Given the description of an element on the screen output the (x, y) to click on. 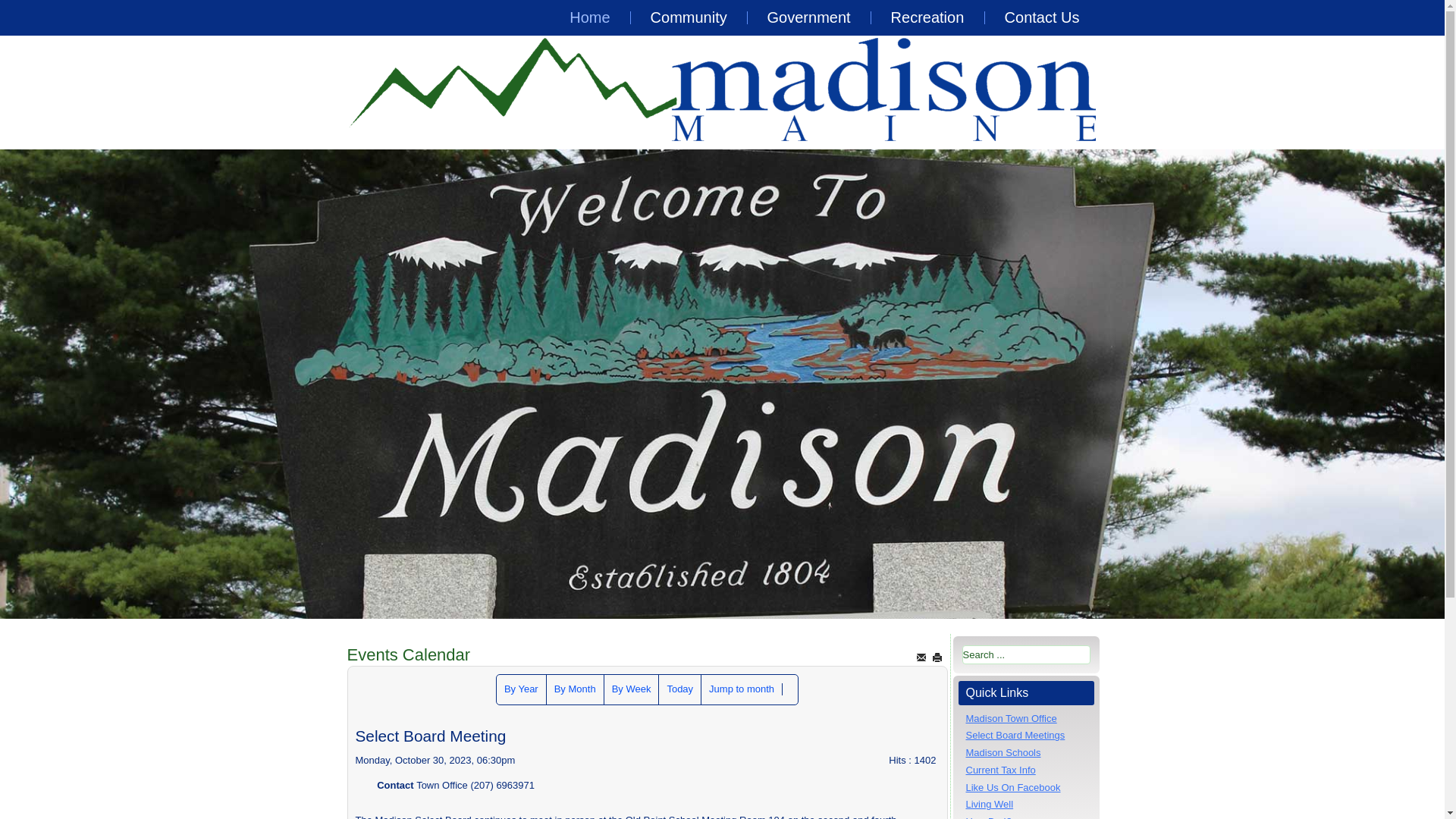
Today (679, 689)
Print (936, 656)
Today (679, 689)
By Year (521, 689)
Recreation (928, 17)
EMAIL (920, 656)
By Month (575, 689)
Madison Town Office (1011, 717)
Jump to month (741, 689)
By Week (631, 689)
Jump to month (741, 689)
Contact Us (1042, 17)
Community (688, 17)
Search (790, 689)
By Month (575, 689)
